Given the description of an element on the screen output the (x, y) to click on. 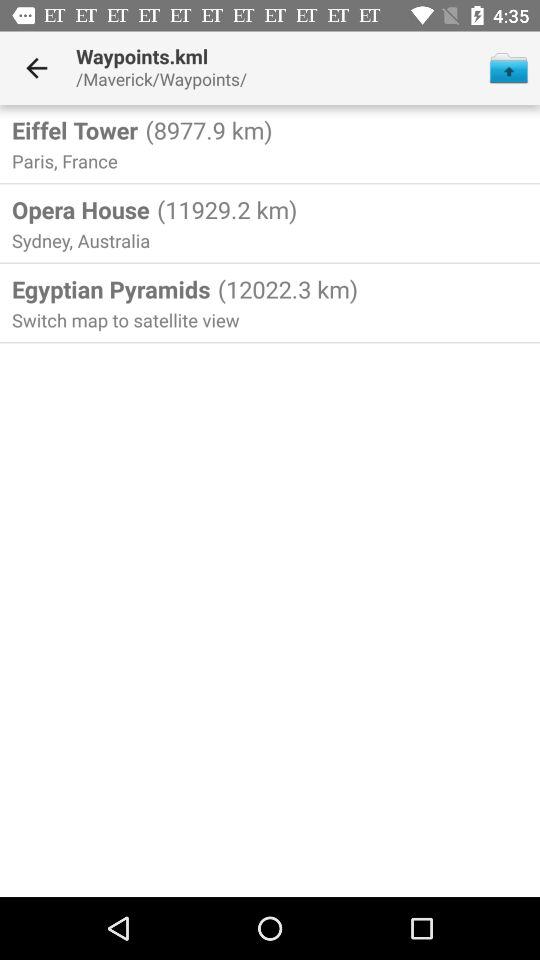
turn on icon next to the /maverick/waypoints/ item (508, 67)
